Given the description of an element on the screen output the (x, y) to click on. 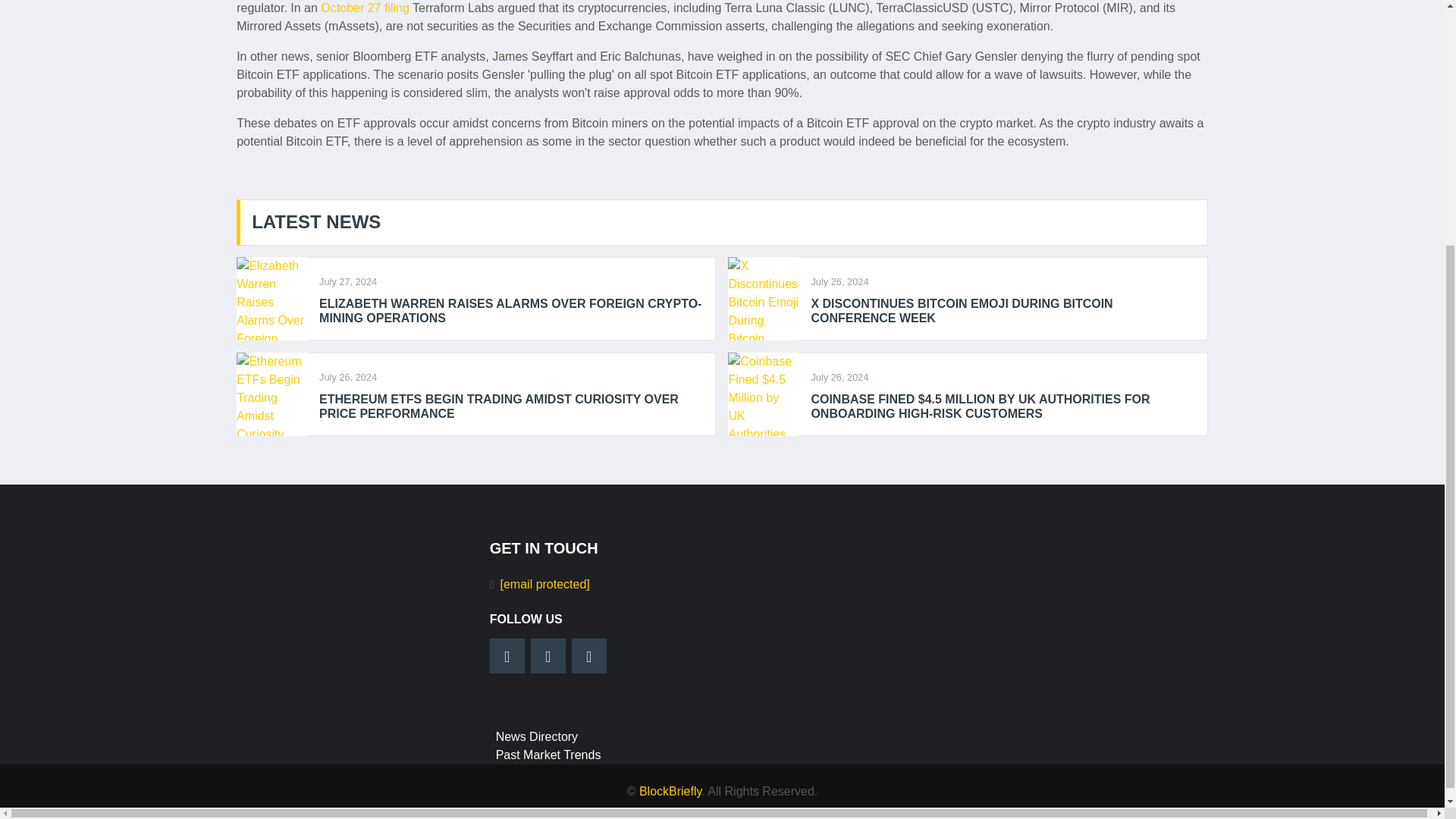
X DISCONTINUES BITCOIN EMOJI DURING BITCOIN CONFERENCE WEEK (1001, 310)
July 27, 2024 (347, 280)
Past Market Trends (548, 754)
July 26, 2024 (347, 376)
News Directory (537, 736)
October 27 filing (364, 7)
BlockBriefly (670, 790)
July 26, 2024 (838, 280)
July 26, 2024 (838, 376)
